Given the description of an element on the screen output the (x, y) to click on. 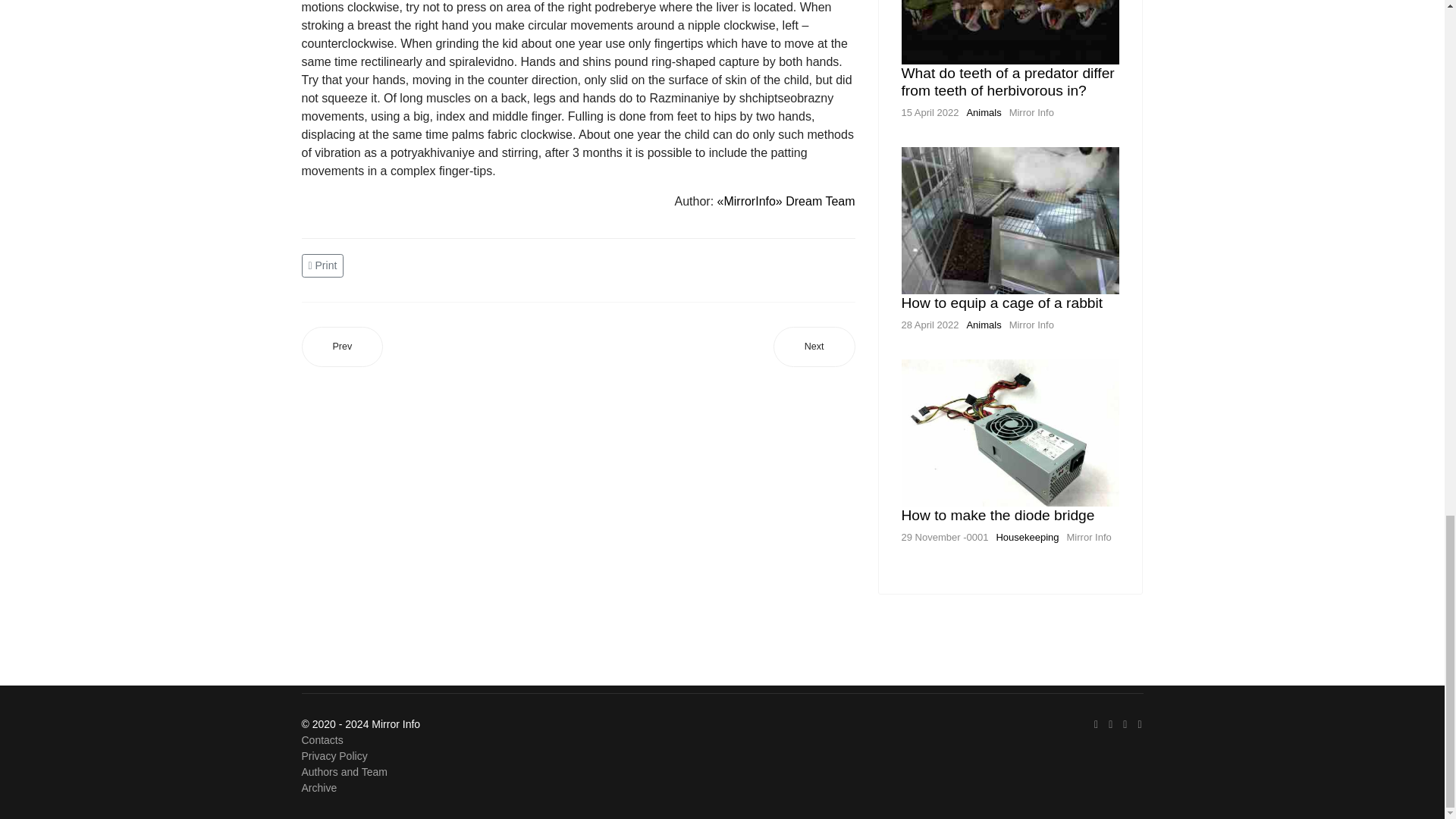
Next (814, 346)
Prev (342, 346)
Print (324, 264)
